Given the description of an element on the screen output the (x, y) to click on. 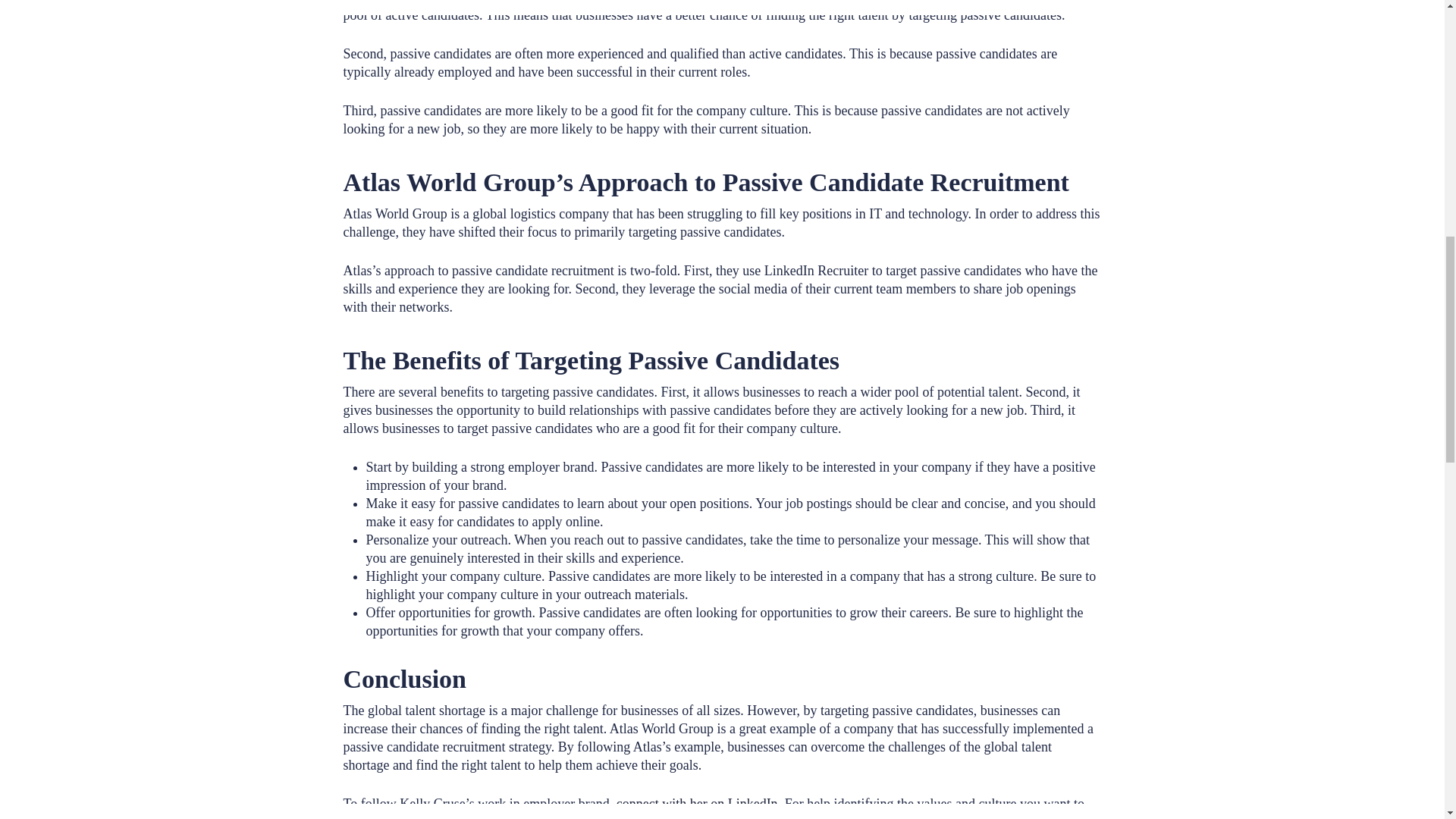
connect with her on LinkedIn (696, 803)
targeting passive candidates (668, 2)
get in touch (509, 816)
